Given the description of an element on the screen output the (x, y) to click on. 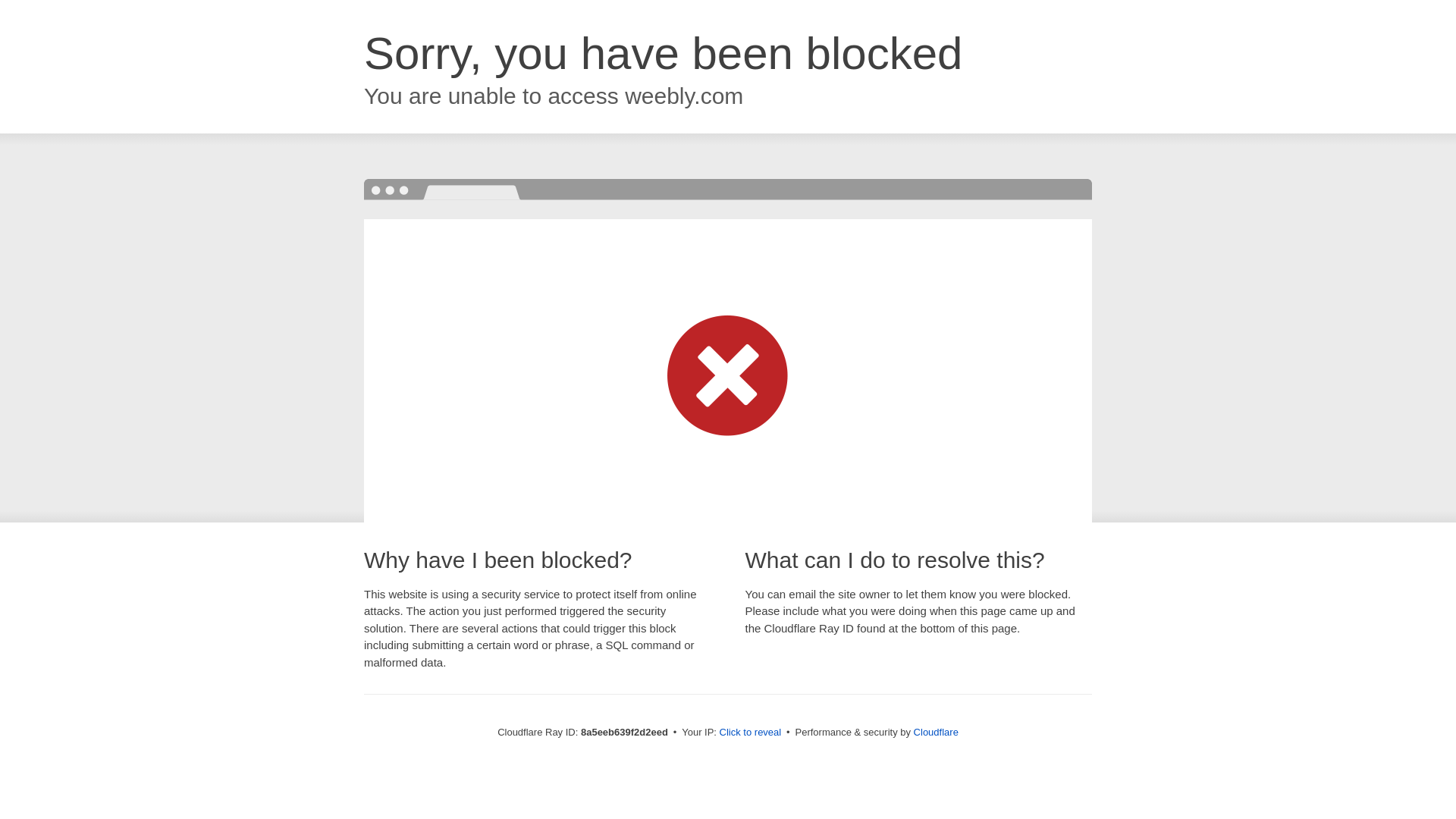
Cloudflare (936, 731)
Click to reveal (750, 732)
